Given the description of an element on the screen output the (x, y) to click on. 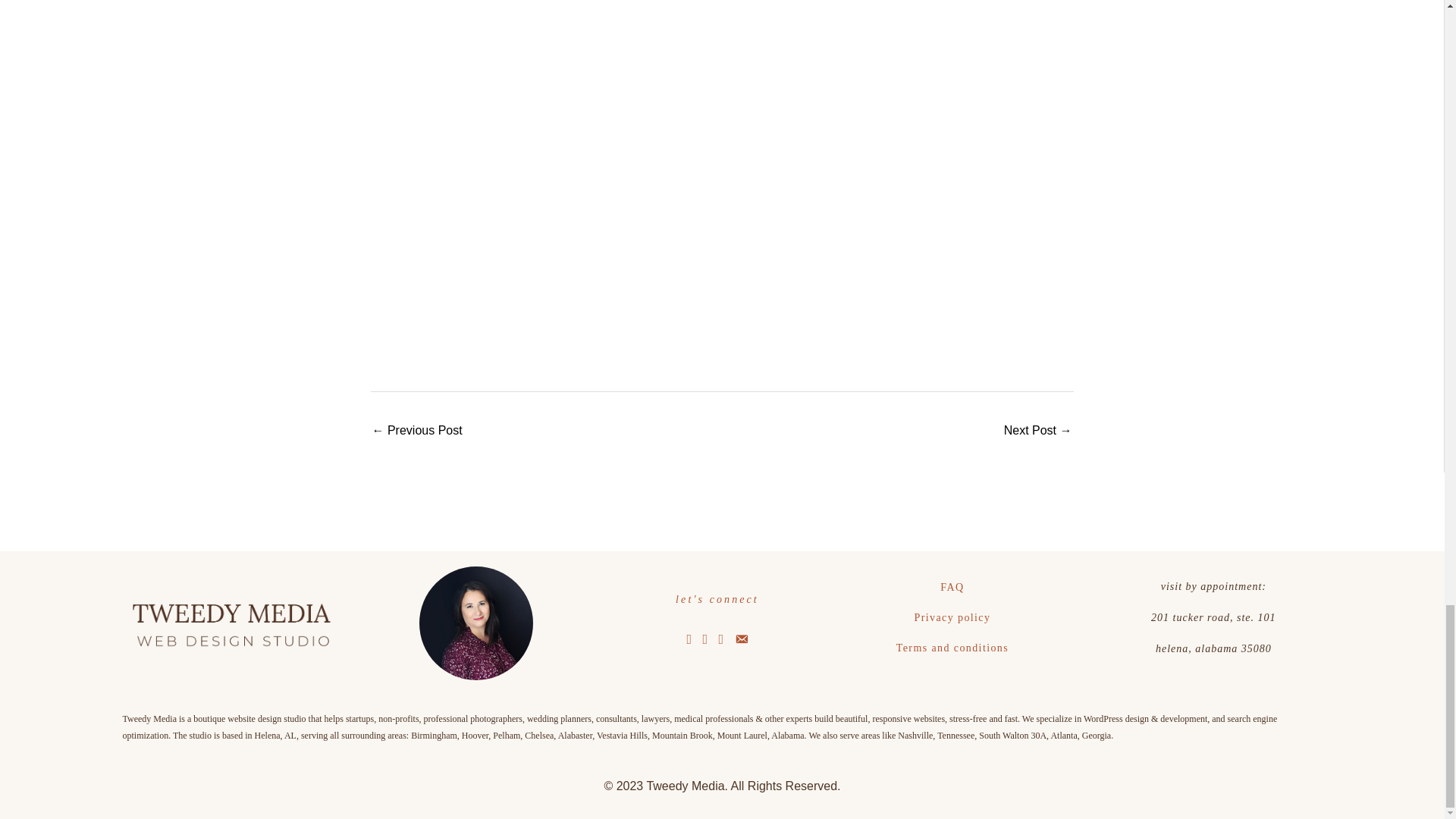
Privacy policy (952, 617)
How do I set up the navigation menu? (1037, 431)
Terms and conditions (952, 647)
BEST WEBSITE DESIGNER BUILDER ALABAMA (475, 623)
Birmingham Alabama website designer (229, 624)
